Given the description of an element on the screen output the (x, y) to click on. 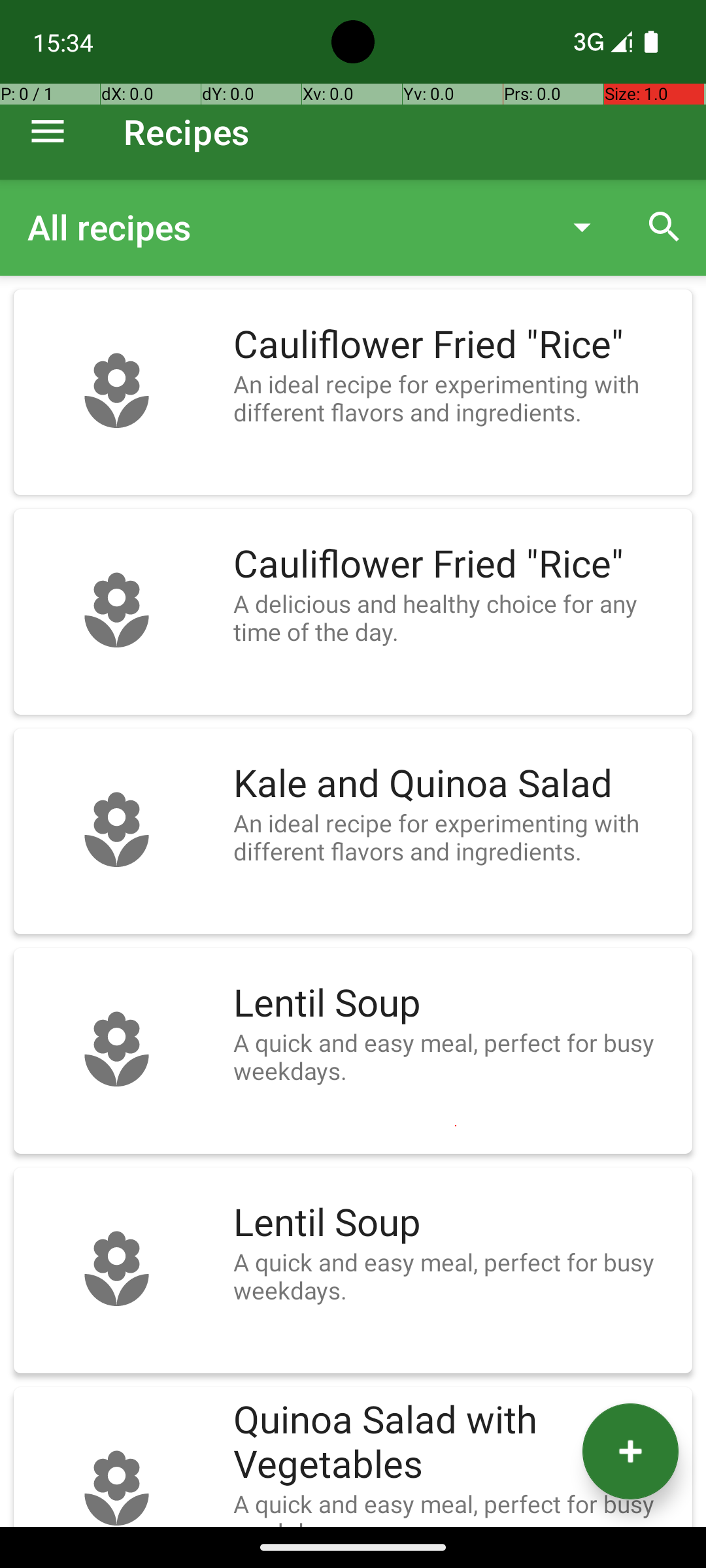
Kale and Quinoa Salad Element type: android.widget.TextView (455, 783)
Lentil Soup Element type: android.widget.TextView (455, 1003)
Quinoa Salad with Vegetables Element type: android.widget.TextView (455, 1442)
